Given the description of an element on the screen output the (x, y) to click on. 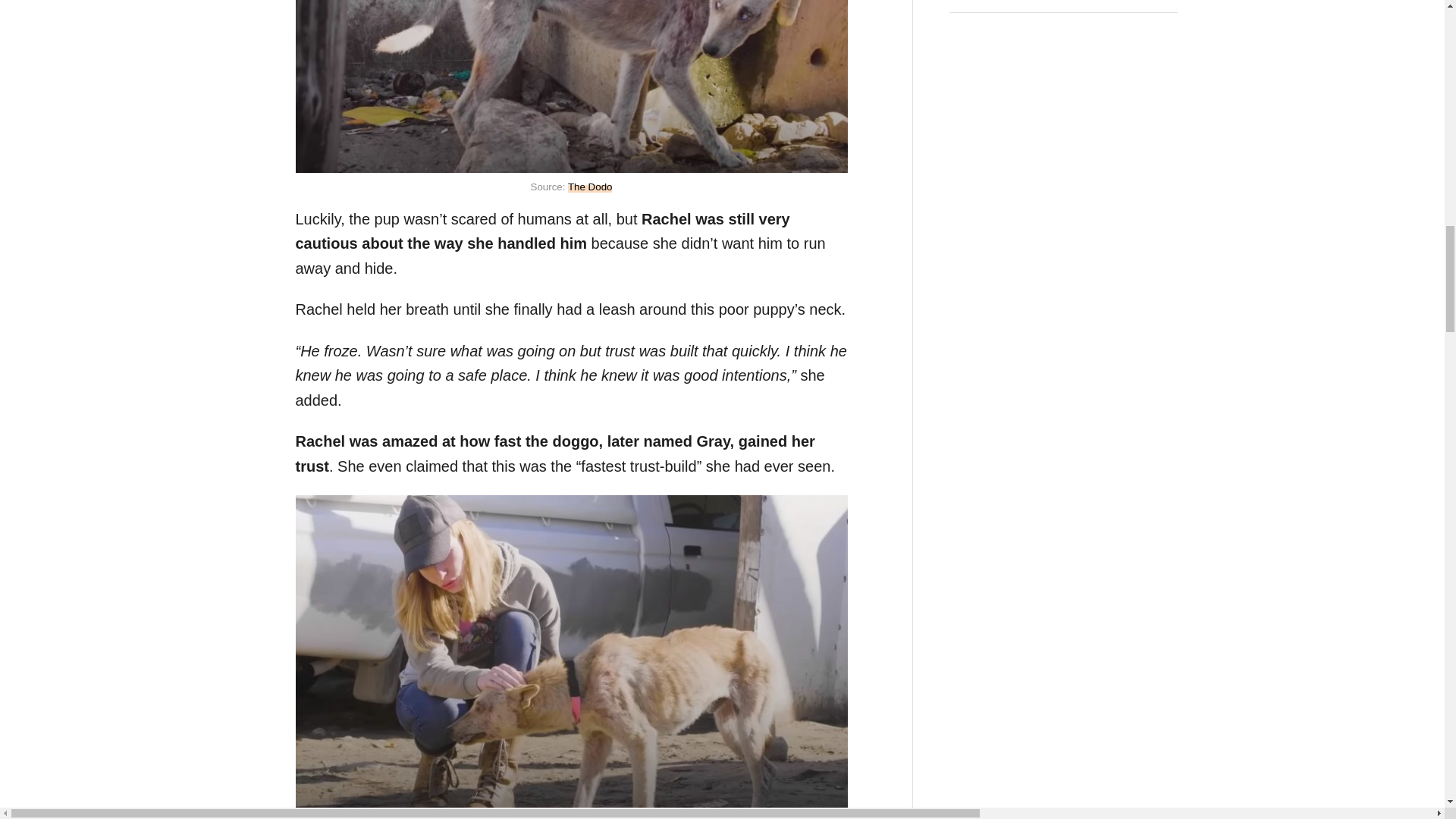
The Dodo (589, 186)
